Given the description of an element on the screen output the (x, y) to click on. 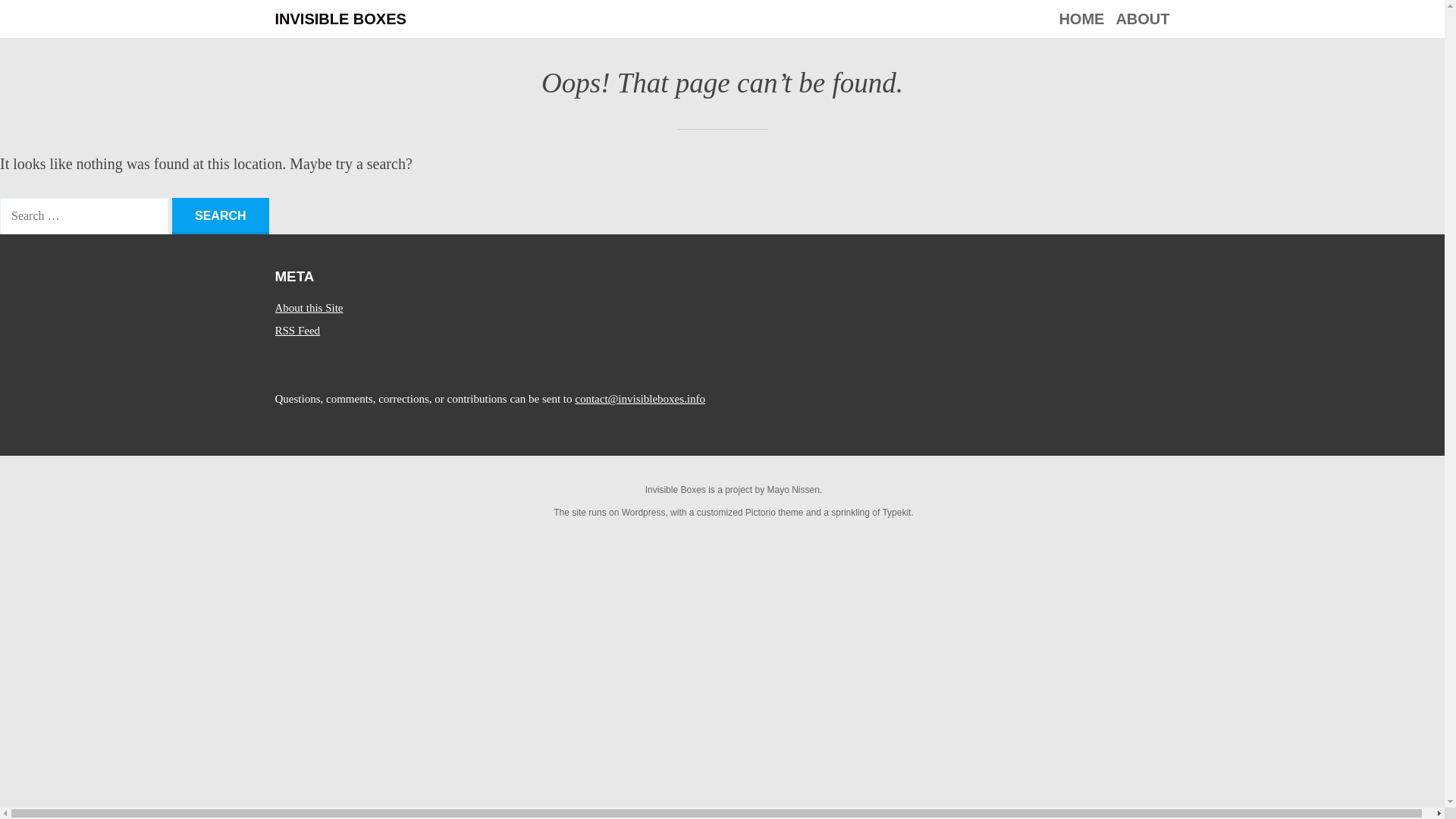
INVISIBLE BOXES (340, 18)
Search (220, 216)
Wordpress (643, 511)
Typekit (896, 511)
Search (220, 216)
About this Site (308, 307)
RSS Feed (297, 330)
HOME (1080, 18)
Mayo Nissen (793, 489)
Search (220, 216)
